Given the description of an element on the screen output the (x, y) to click on. 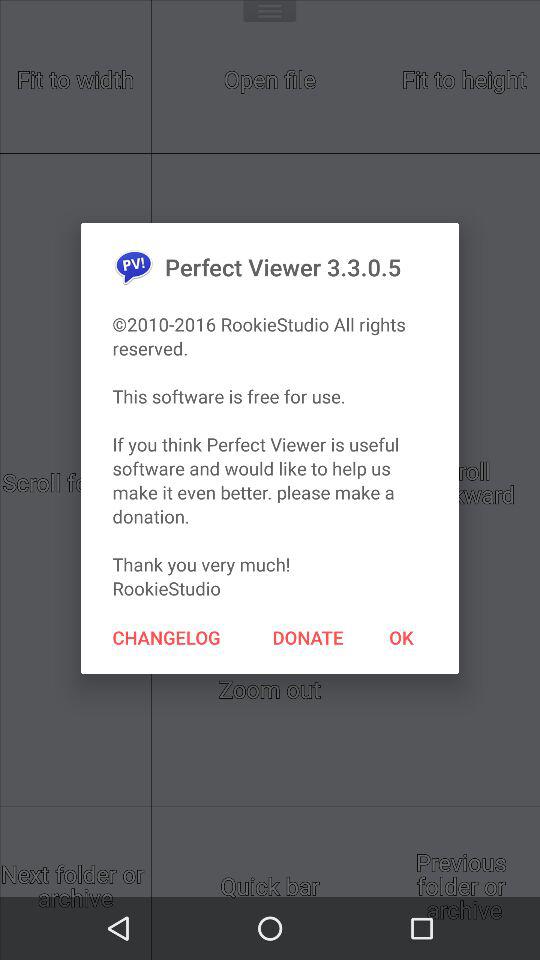
press item below the 2010 2016 rookiestudio icon (401, 637)
